Given the description of an element on the screen output the (x, y) to click on. 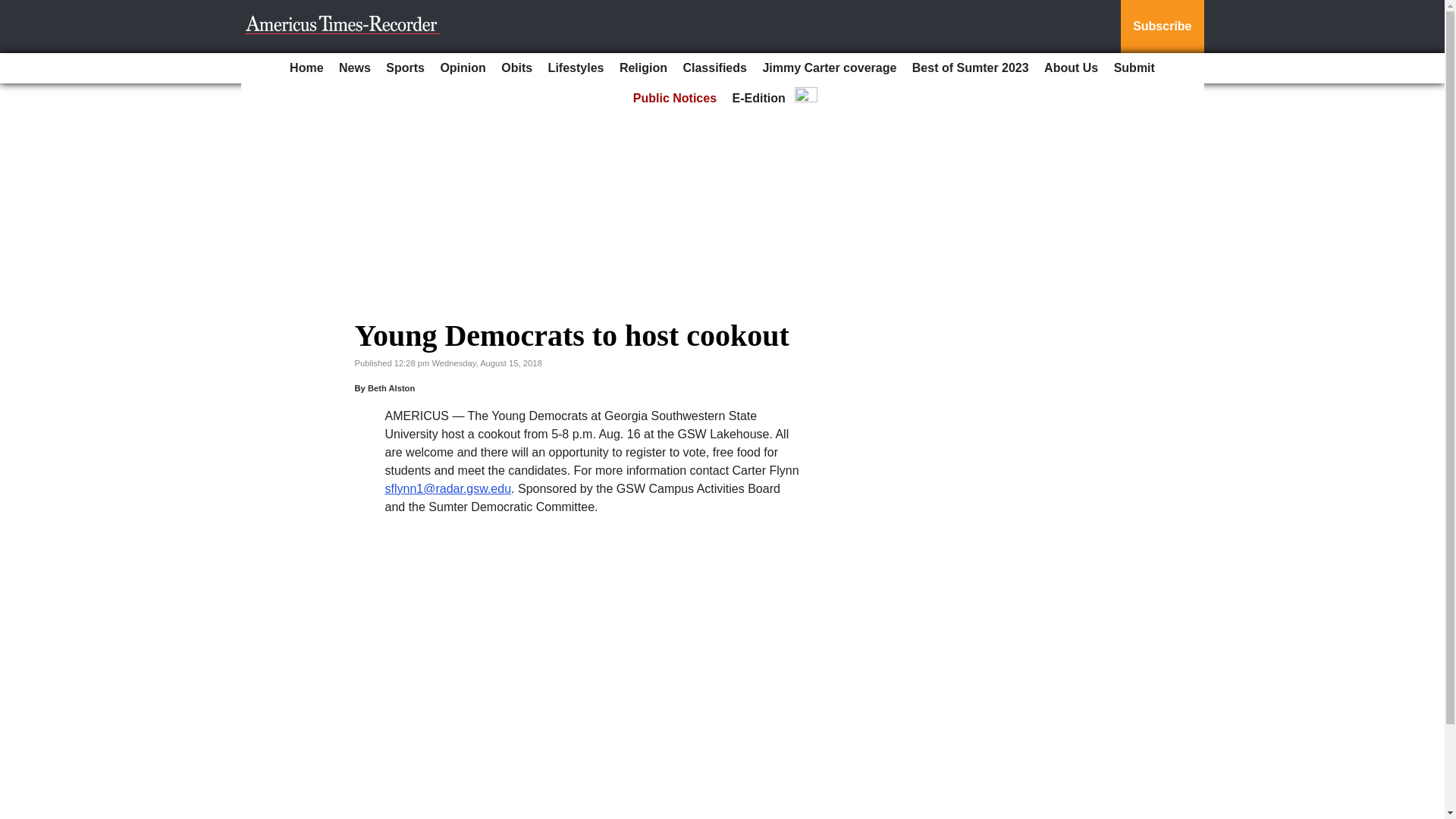
E-Edition (759, 98)
Opinion (462, 68)
Religion (642, 68)
Home (306, 68)
Go (13, 9)
Subscribe (1162, 26)
About Us (1070, 68)
Obits (516, 68)
Submit (1134, 68)
Jimmy Carter coverage (828, 68)
